Given the description of an element on the screen output the (x, y) to click on. 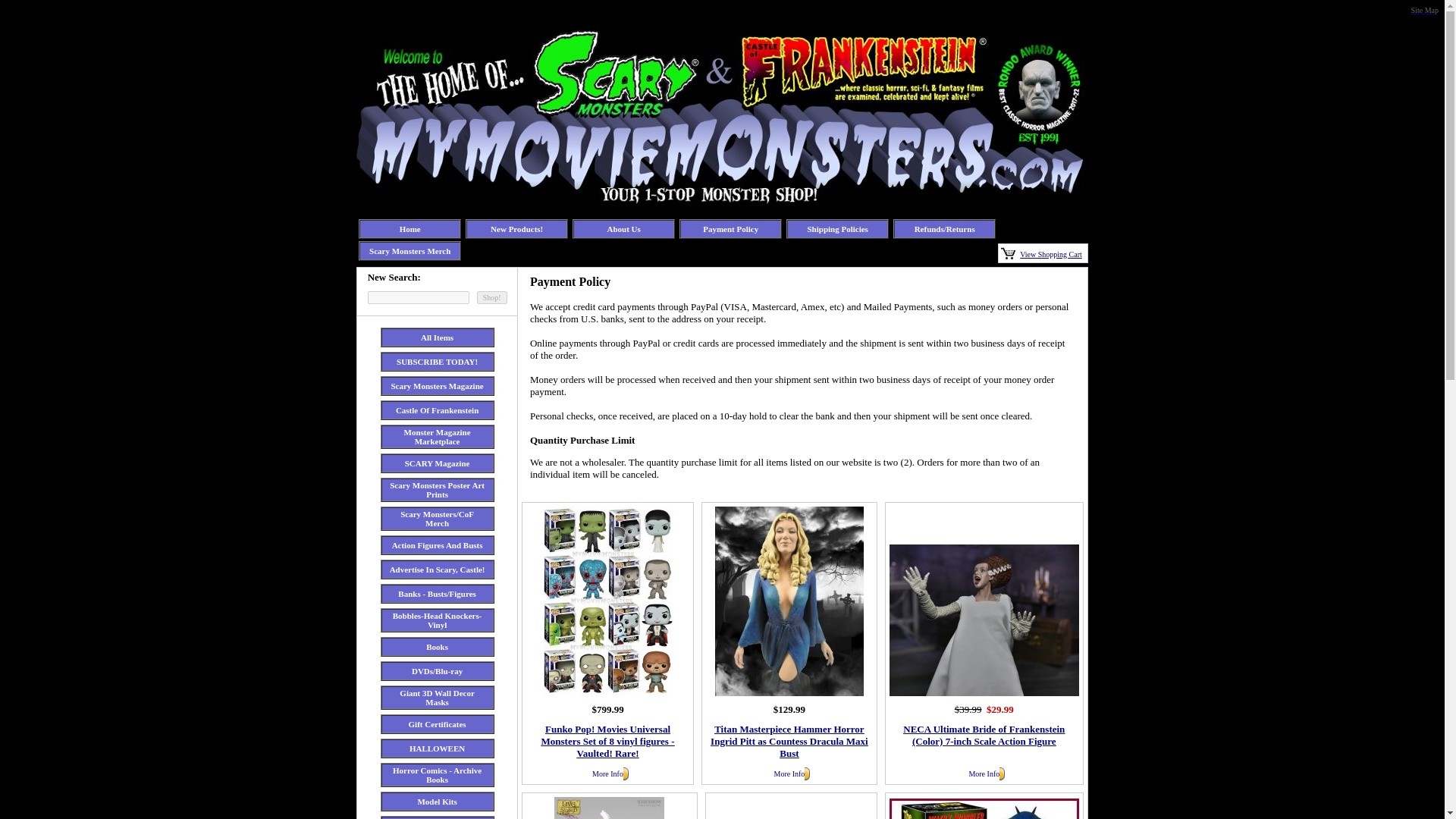
SUBSCRIBE TODAY! (436, 361)
New Products! (516, 228)
Model Kits (436, 800)
Scary Monsters Merch (409, 250)
Payment Policy (730, 228)
View Shopping Cart (1050, 252)
Monster Magazine Marketplace (437, 436)
Advertise In Scary, Castle! (437, 569)
Home (409, 228)
Giant 3D Wall Decor Masks (436, 697)
Gift Certificates (437, 723)
Shop! (491, 297)
Horror Comics - Archive Books (437, 774)
Castle Of Frankenstein (437, 409)
Scary Monsters Magazine (436, 385)
